Given the description of an element on the screen output the (x, y) to click on. 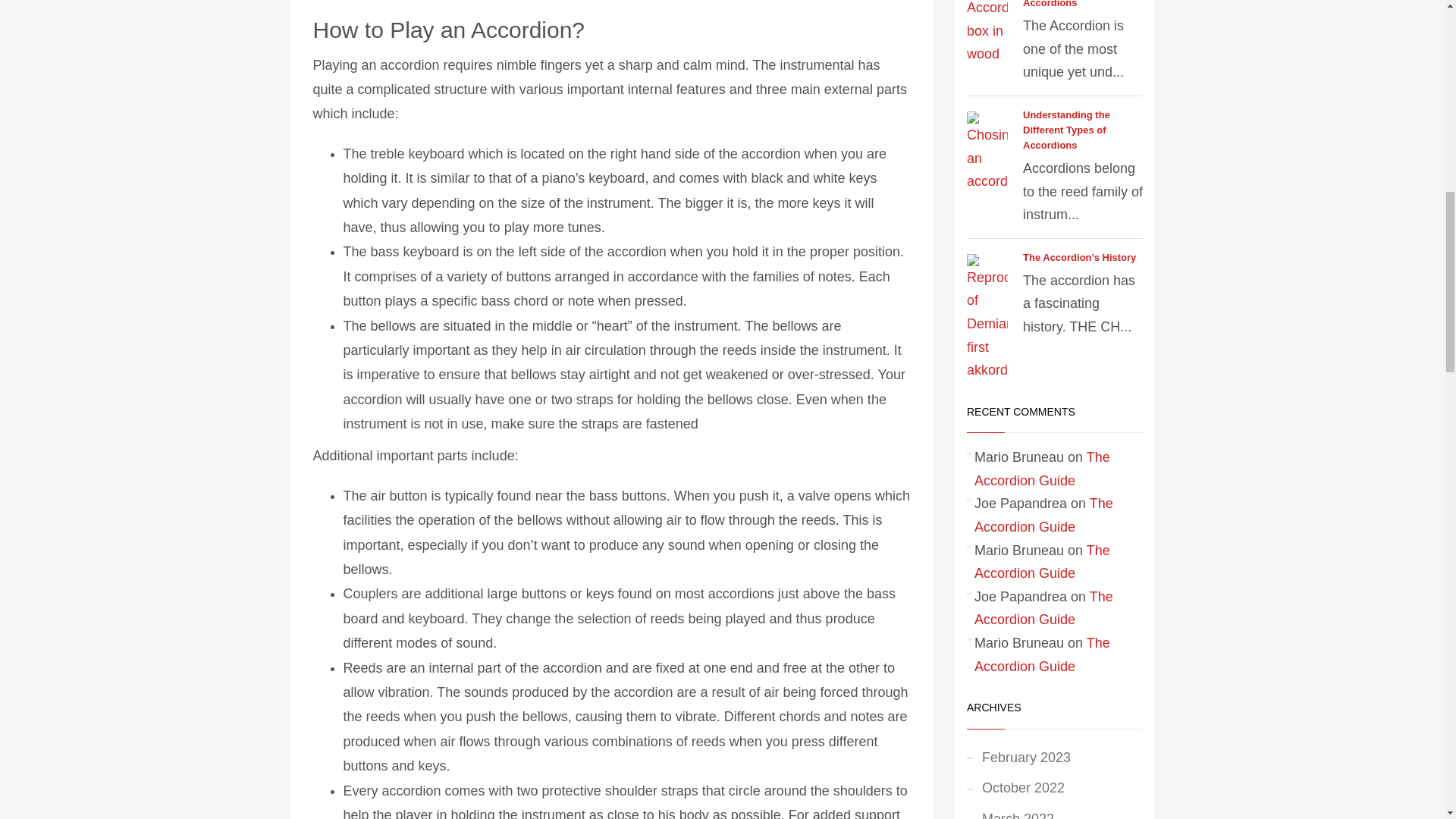
Interesting Facts about Accordions (1077, 4)
The Accordion Guide (1041, 468)
The Accordion Guide (1041, 561)
The Accordion Guide (1041, 654)
Understanding the Different Types of Accordions (1066, 129)
February 2023 (1054, 757)
Understanding the Different Types of Accordions (1066, 129)
The Accordion Guide (1043, 608)
The Accordion Guide (1043, 515)
Interesting Facts about Accordions (1077, 4)
